Given the description of an element on the screen output the (x, y) to click on. 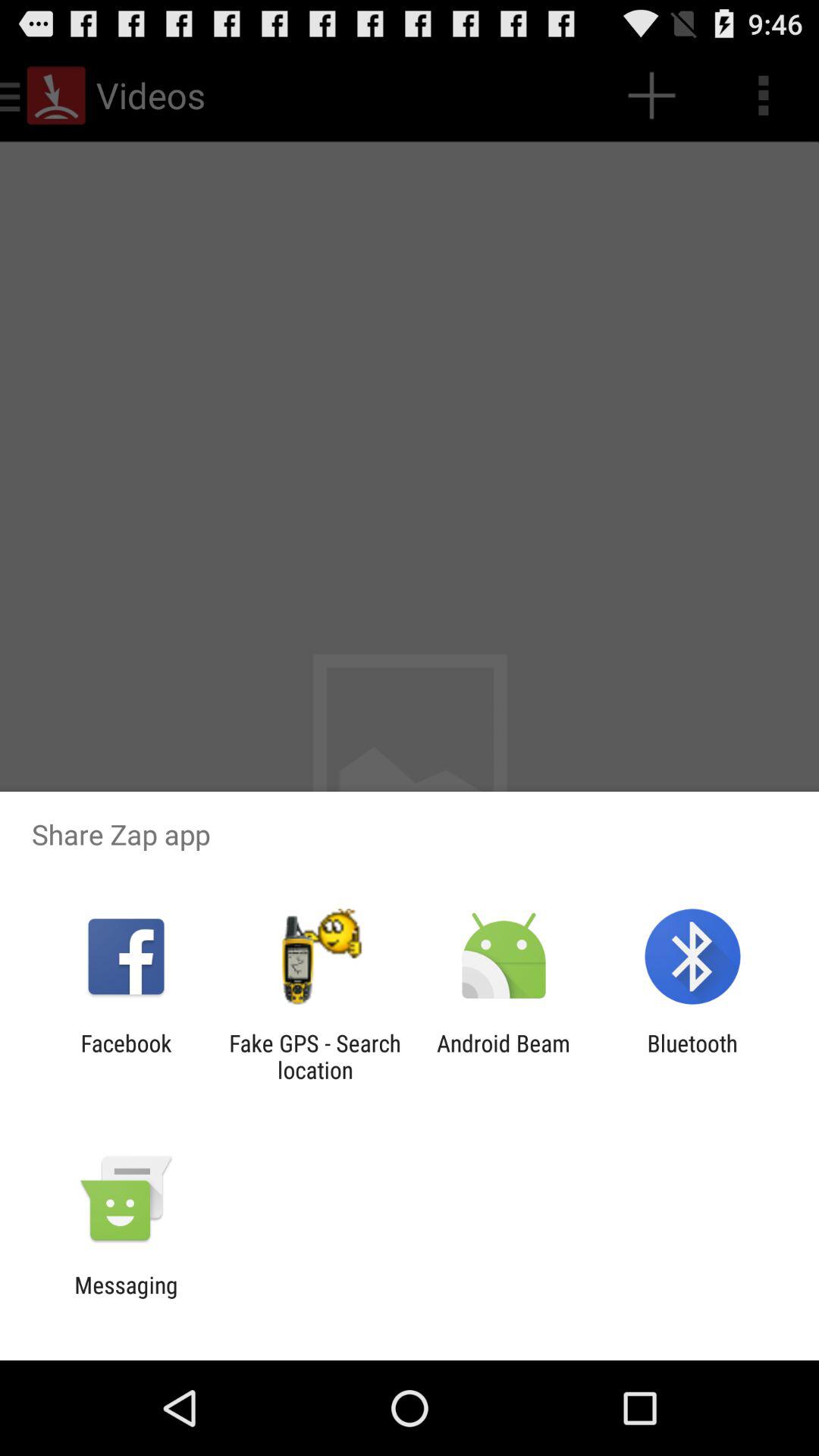
choose the item at the bottom right corner (692, 1056)
